Given the description of an element on the screen output the (x, y) to click on. 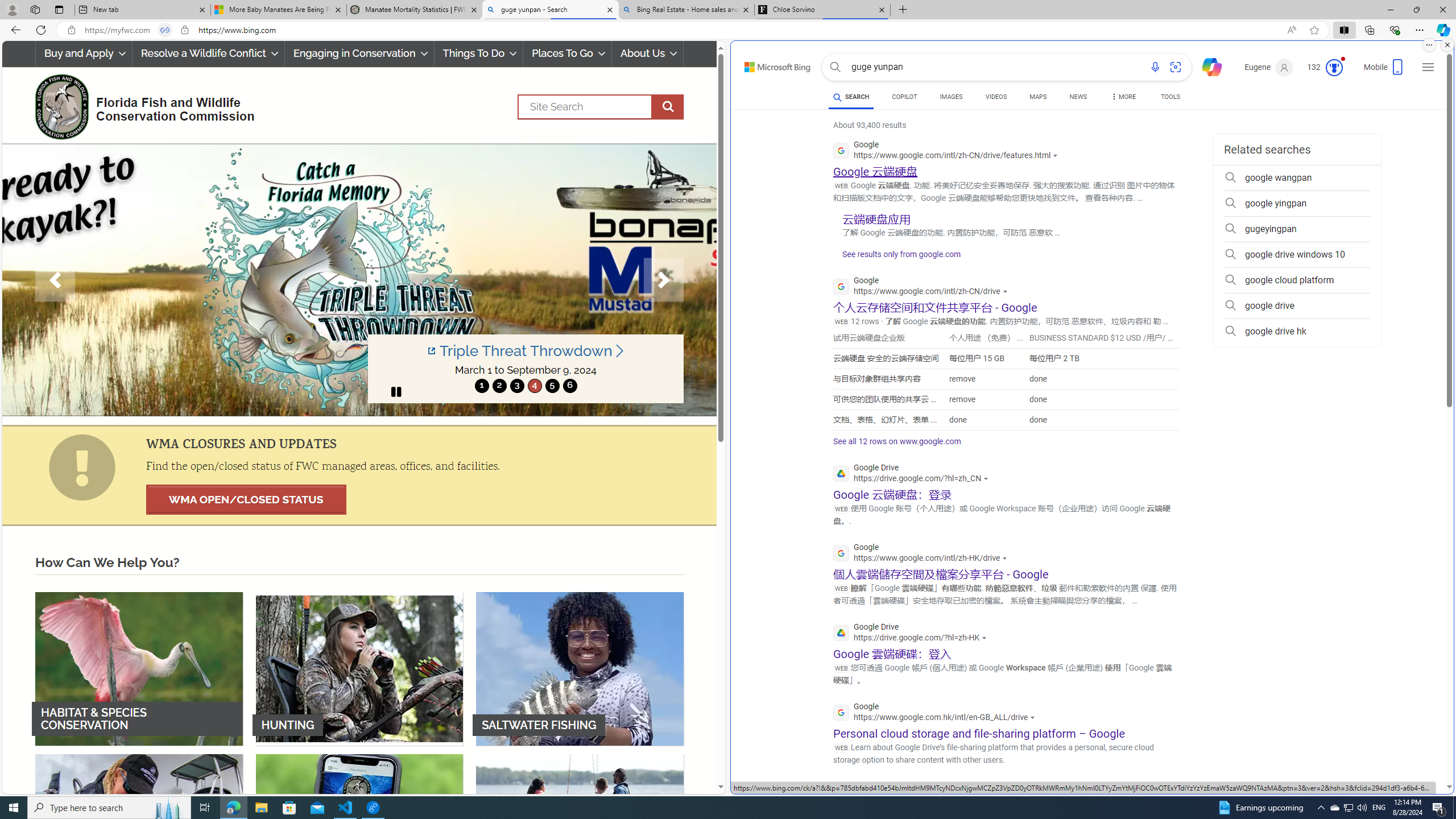
Class: outer-circle-animation (1333, 67)
Places To Go (566, 53)
Google (936, 713)
Chat (1207, 65)
move to slide 3 (516, 385)
move to slide 4 (534, 385)
move to slide 5 (551, 385)
More options. (1428, 45)
HUNTING (358, 668)
View site information (184, 29)
VIDEOS (995, 98)
Google Drive (912, 634)
See results only from google.com (896, 257)
move to slide 2 (499, 385)
